Given the description of an element on the screen output the (x, y) to click on. 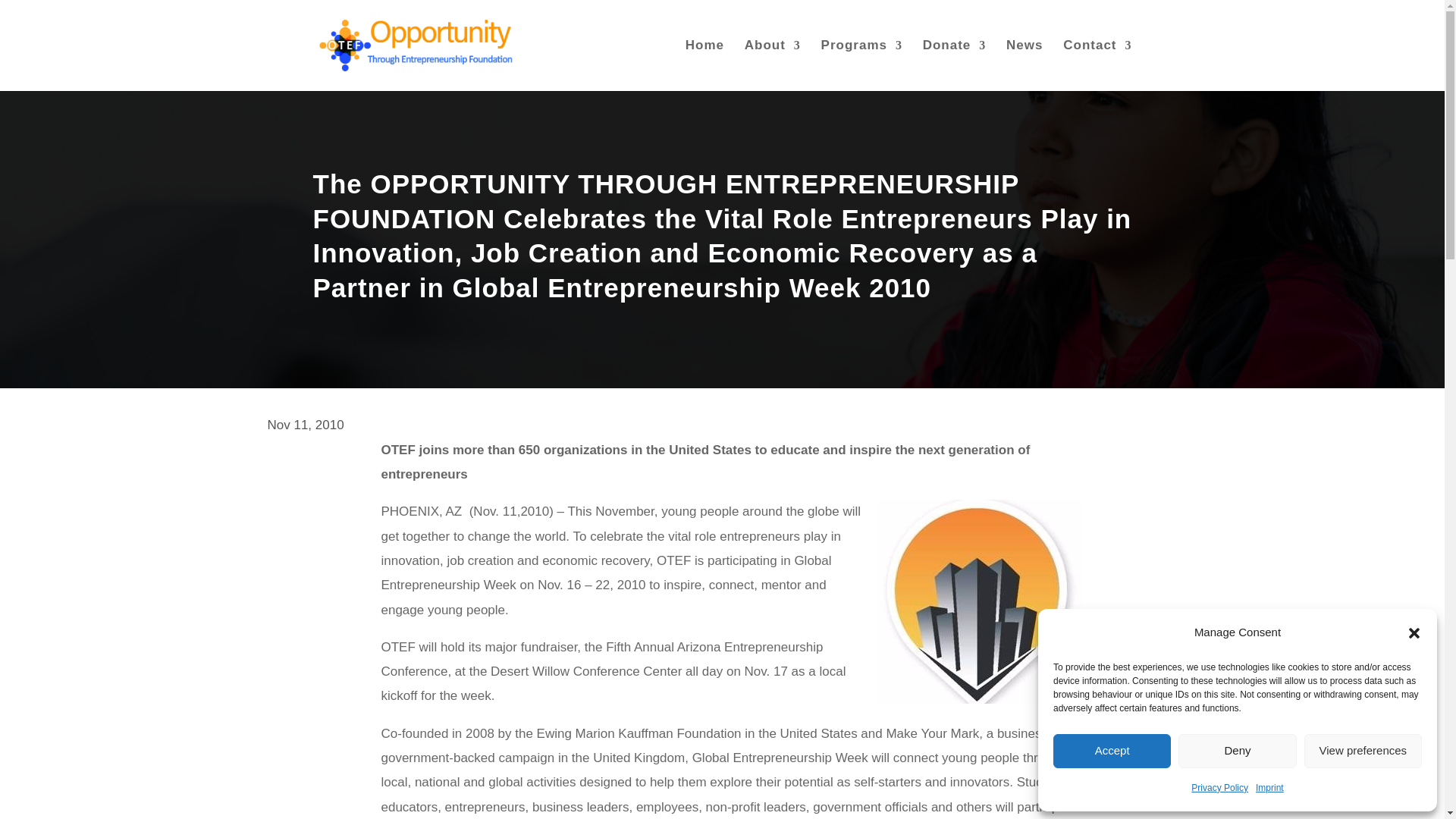
Donate (955, 65)
About (772, 65)
Contact (1096, 65)
View preferences (1363, 750)
Privacy Policy (1219, 787)
Deny (1236, 750)
Imprint (1269, 787)
Programs (861, 65)
Accept (1111, 750)
